Given the description of an element on the screen output the (x, y) to click on. 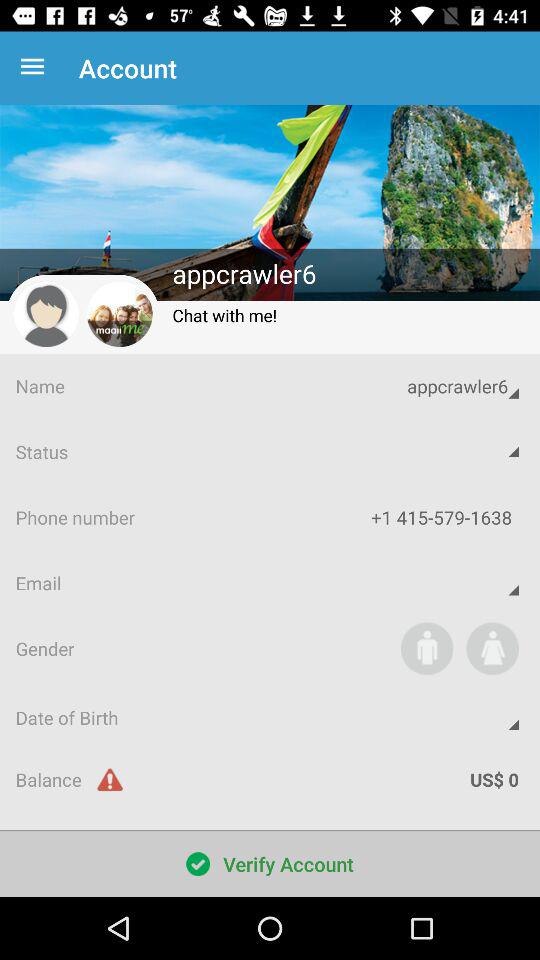
flip to the verify account icon (270, 863)
